Given the description of an element on the screen output the (x, y) to click on. 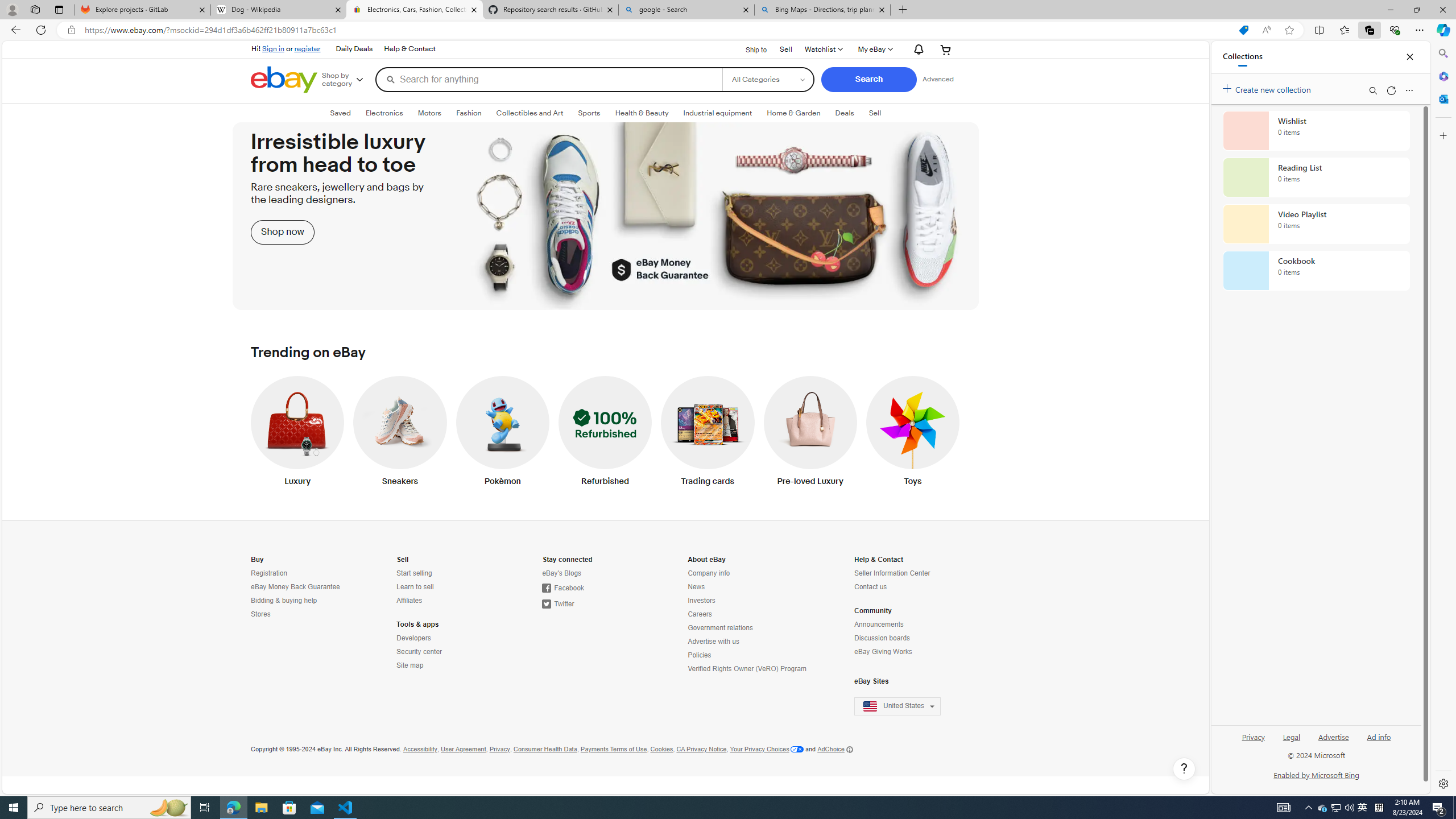
Policies (699, 655)
Announcements (879, 624)
Ship to (748, 48)
eBay sites,United States (897, 705)
Toys (912, 433)
Health & BeautyExpand: Health & Beauty (641, 112)
Sneakers (399, 433)
Wishlist collection, 0 items (1316, 130)
Pre-loved Luxury (809, 433)
Irresistible luxury from head to toe (605, 215)
Reading List collection, 0 items (1316, 177)
